Given the description of an element on the screen output the (x, y) to click on. 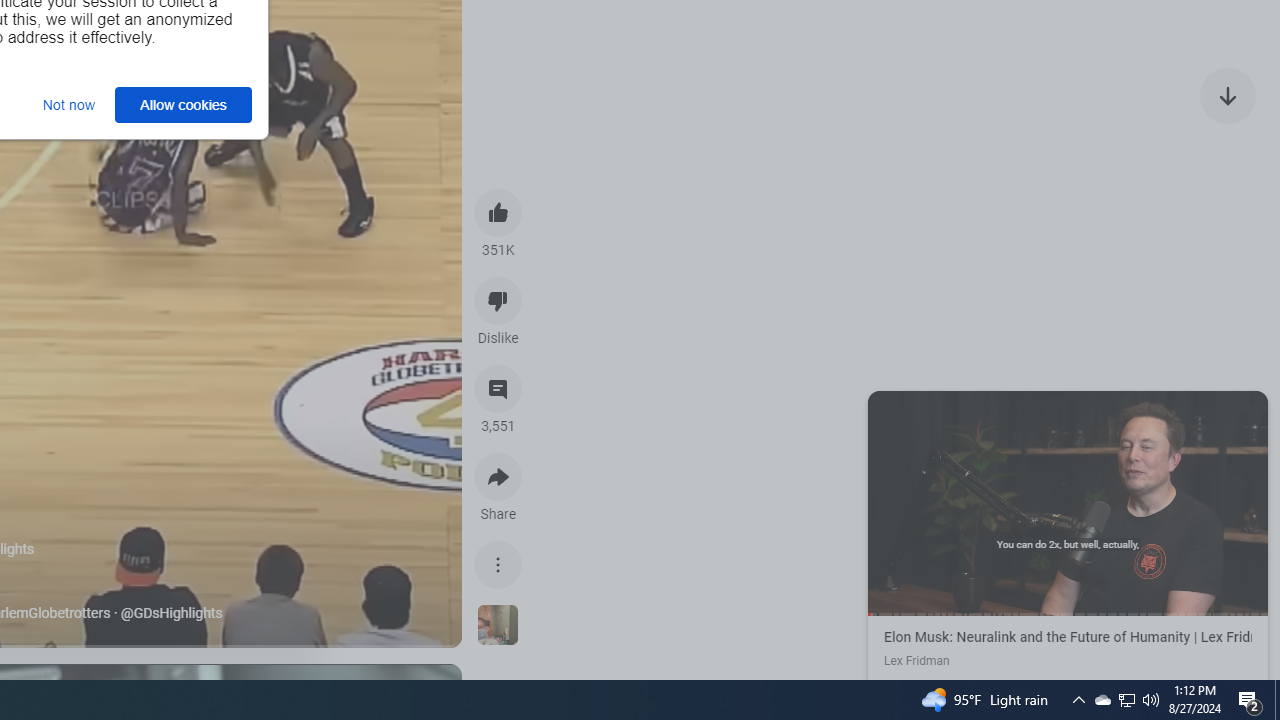
Next (SHIFT+n) (1168, 501)
